Given the description of an element on the screen output the (x, y) to click on. 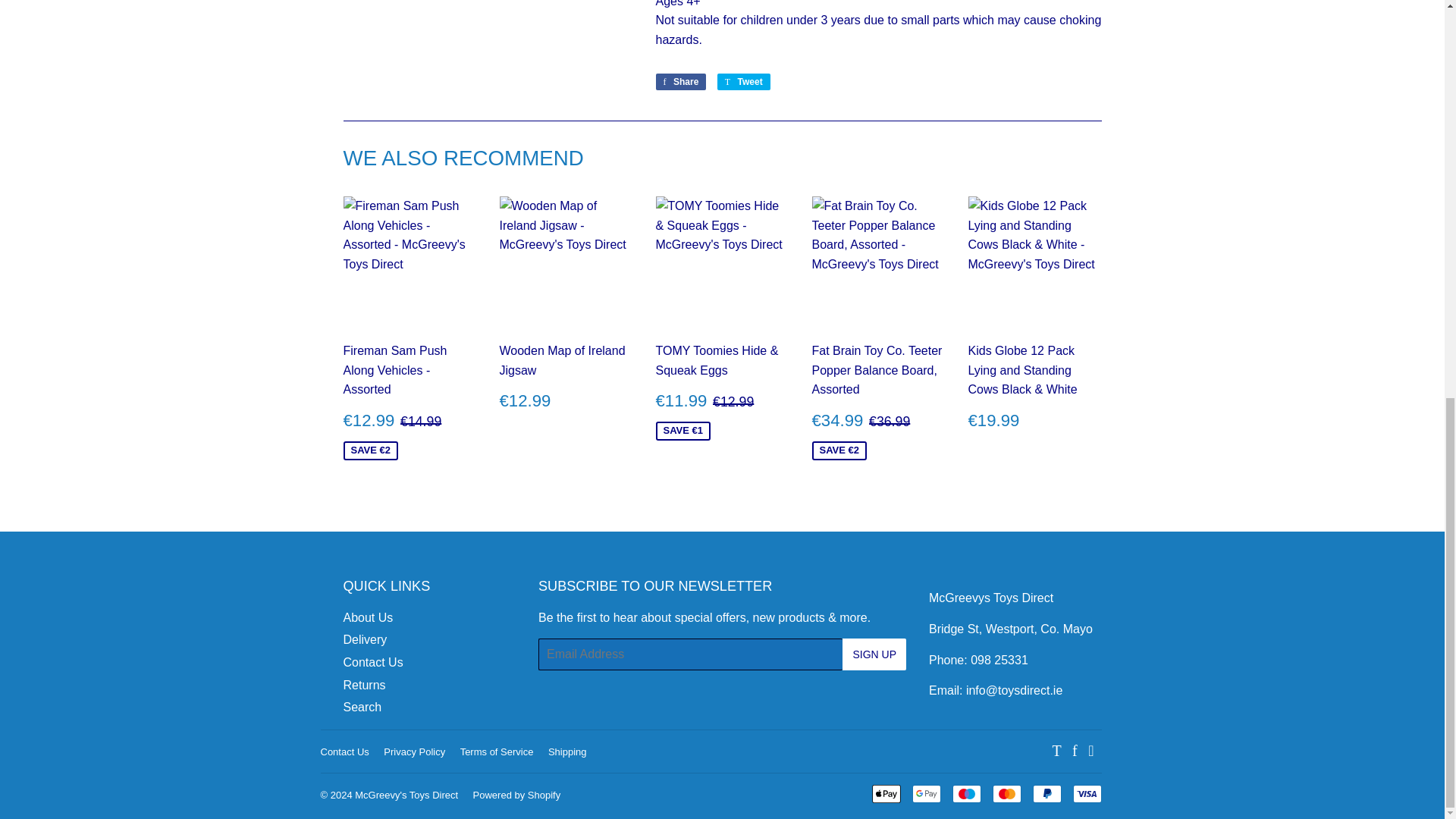
Visa (1085, 793)
Mastercard (1005, 793)
Google Pay (925, 793)
Maestro (966, 793)
PayPal (1046, 793)
Apple Pay (886, 793)
